Given the description of an element on the screen output the (x, y) to click on. 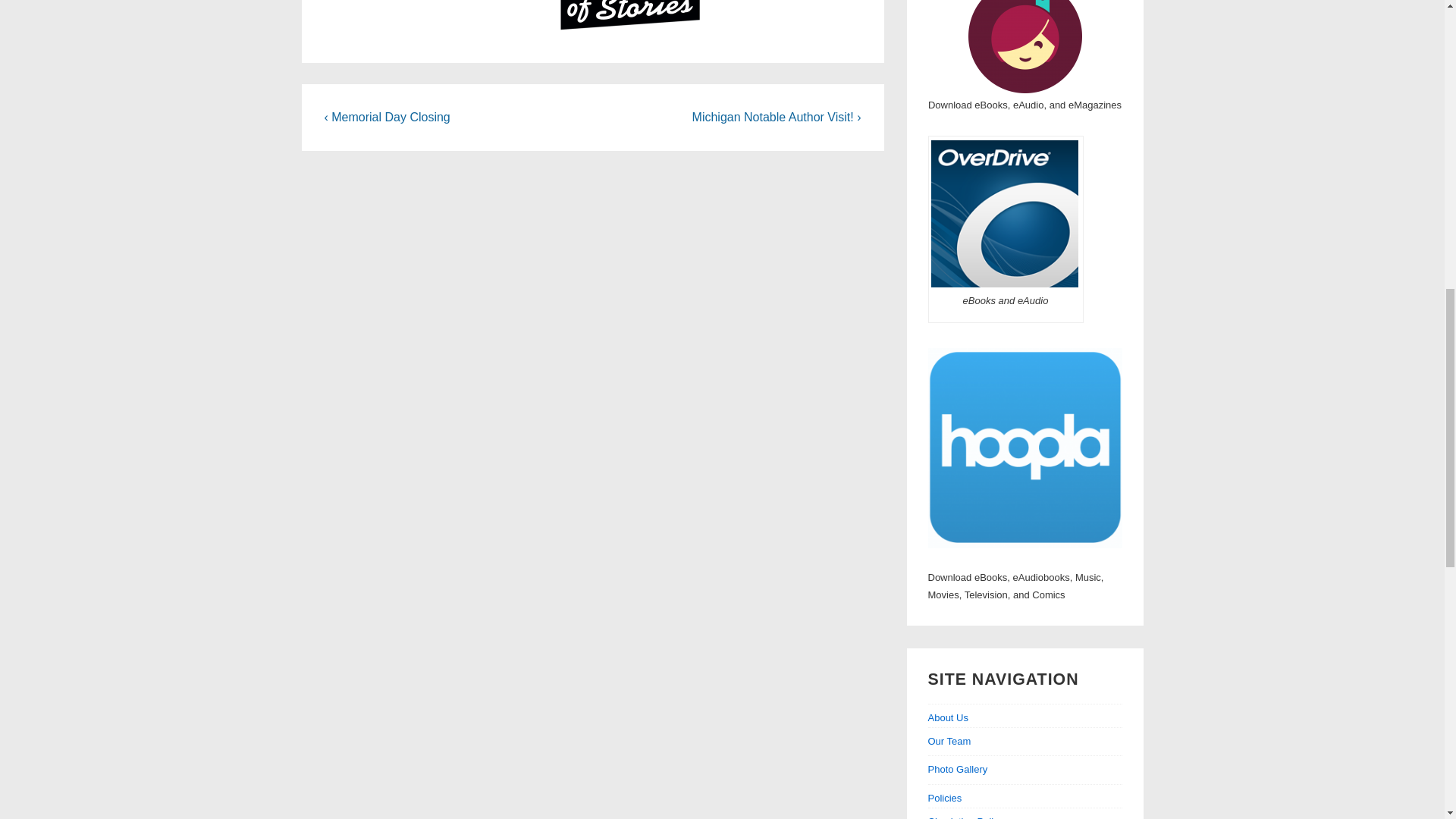
Circulation Policy (966, 817)
Photo Gallery (958, 768)
Our Team (949, 740)
Policies (1025, 798)
About Us (1025, 718)
